Given the description of an element on the screen output the (x, y) to click on. 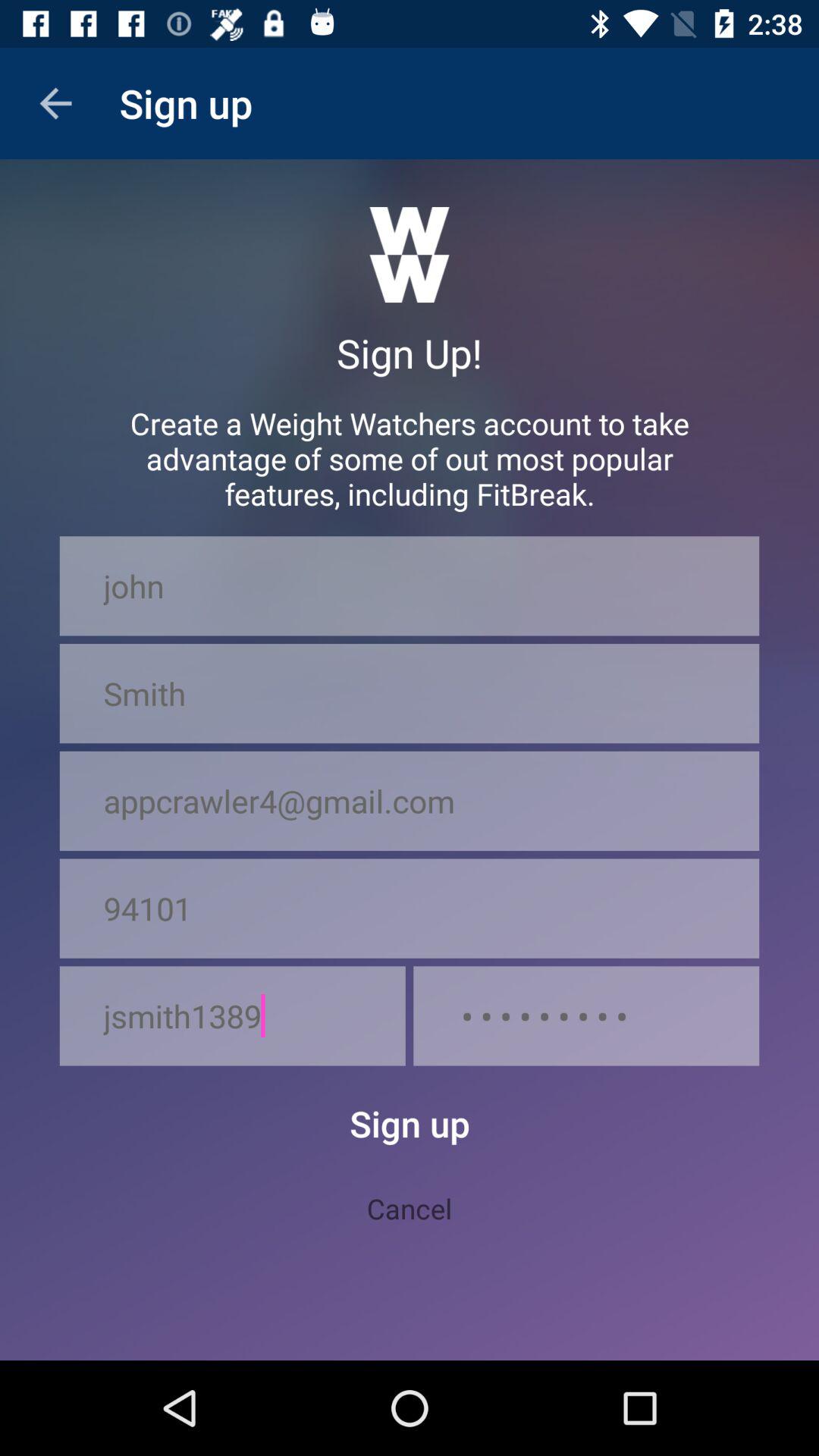
press item above the sign up item (232, 1015)
